Given the description of an element on the screen output the (x, y) to click on. 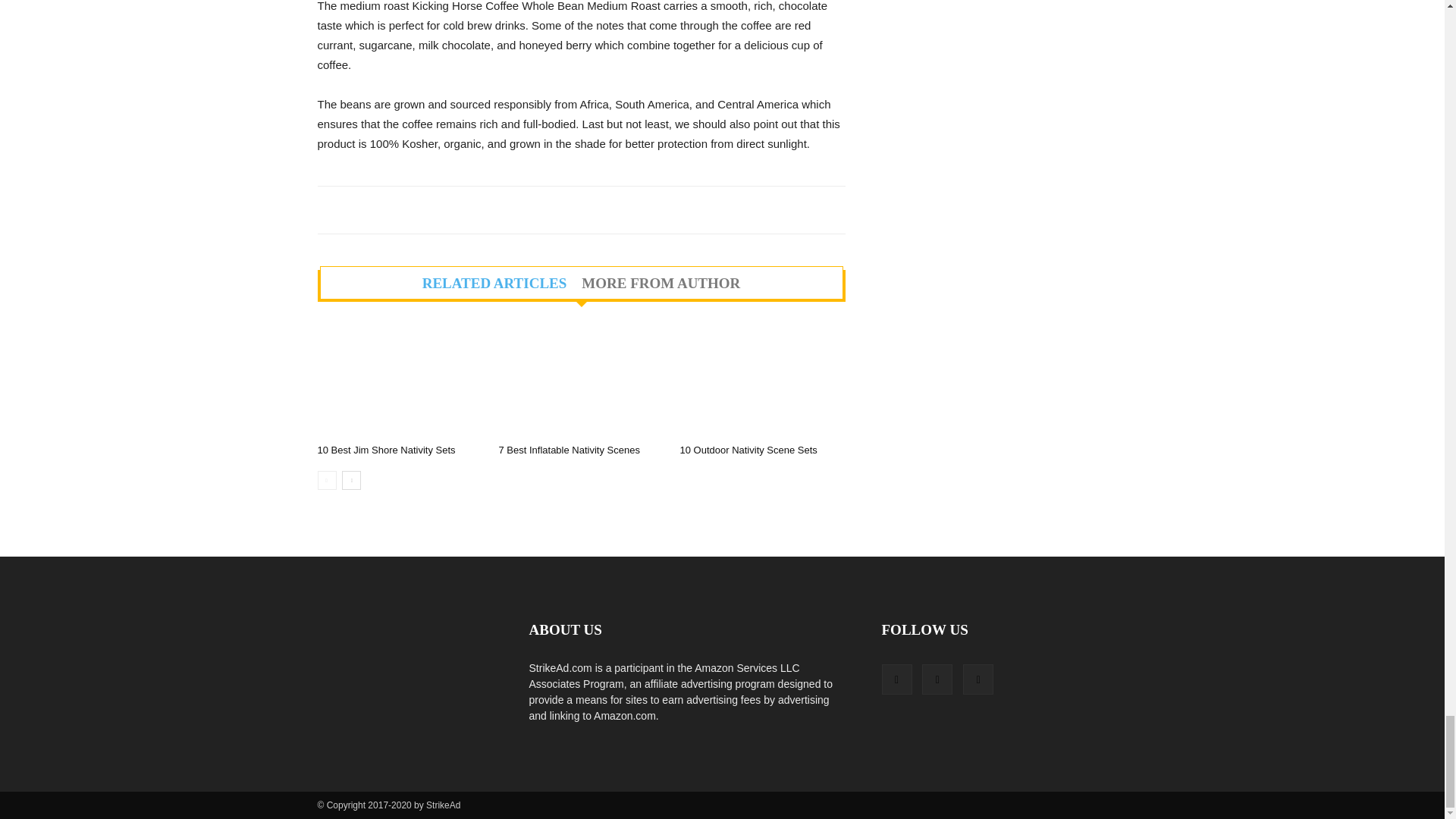
10 Best Jim Shore Nativity Sets (399, 380)
